Given the description of an element on the screen output the (x, y) to click on. 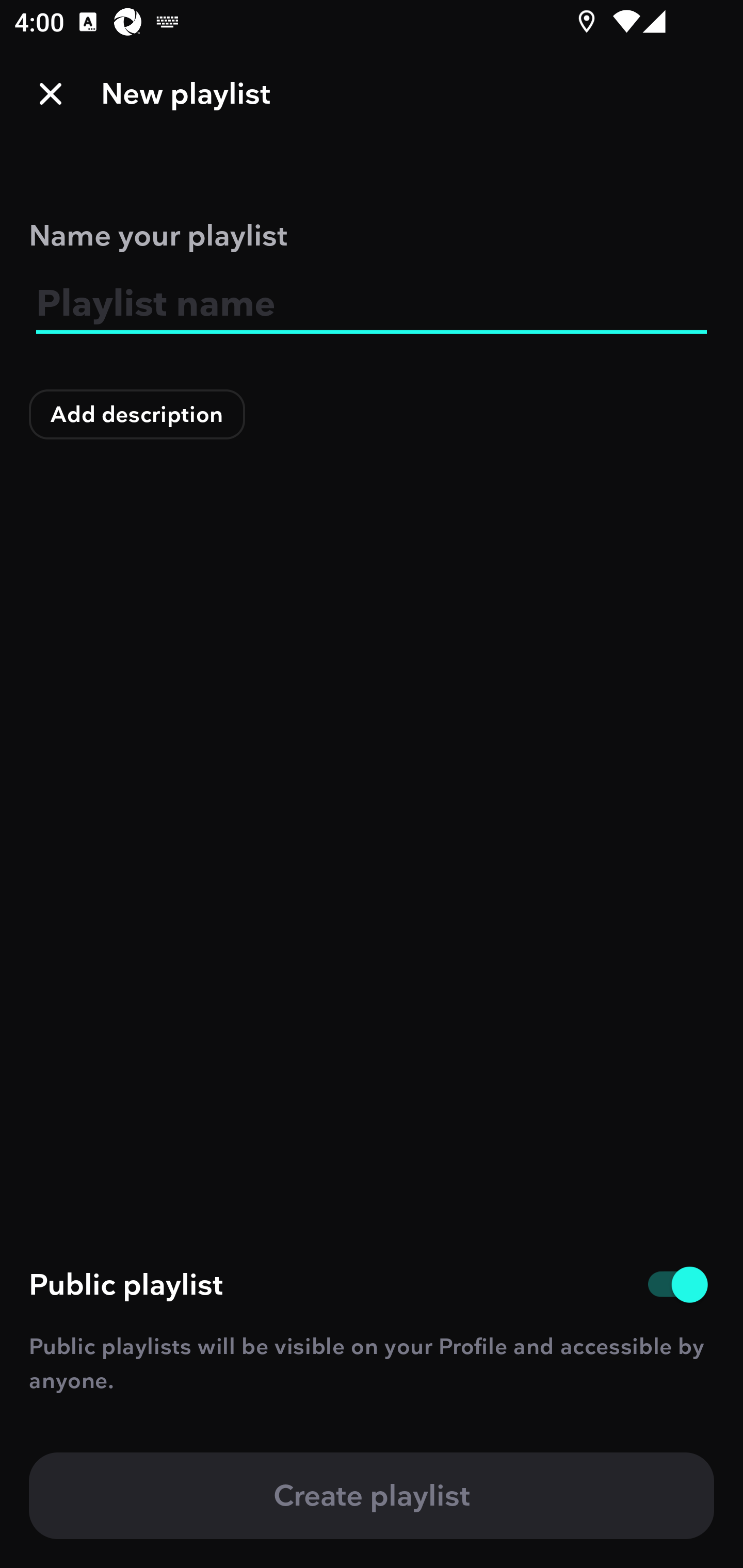
Back (50, 93)
Playlist name (371, 303)
Add description (136, 413)
Create playlist (371, 1495)
